Given the description of an element on the screen output the (x, y) to click on. 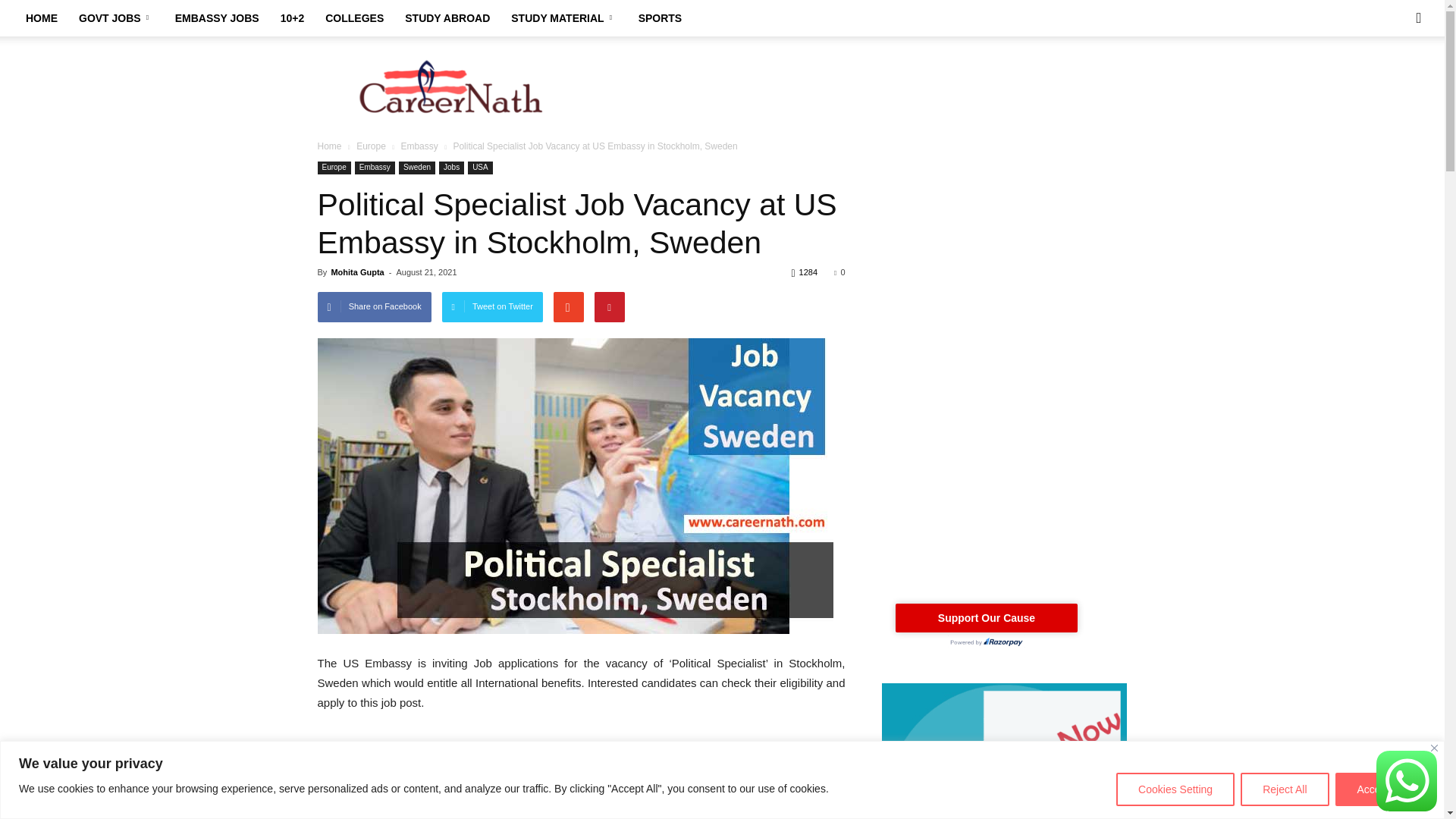
Advertisement (850, 88)
Reject All (1283, 788)
Cookies Setting (1175, 788)
Accept All (1380, 788)
View all posts in Embassy (420, 145)
View all posts in Europe (372, 145)
